Given the description of an element on the screen output the (x, y) to click on. 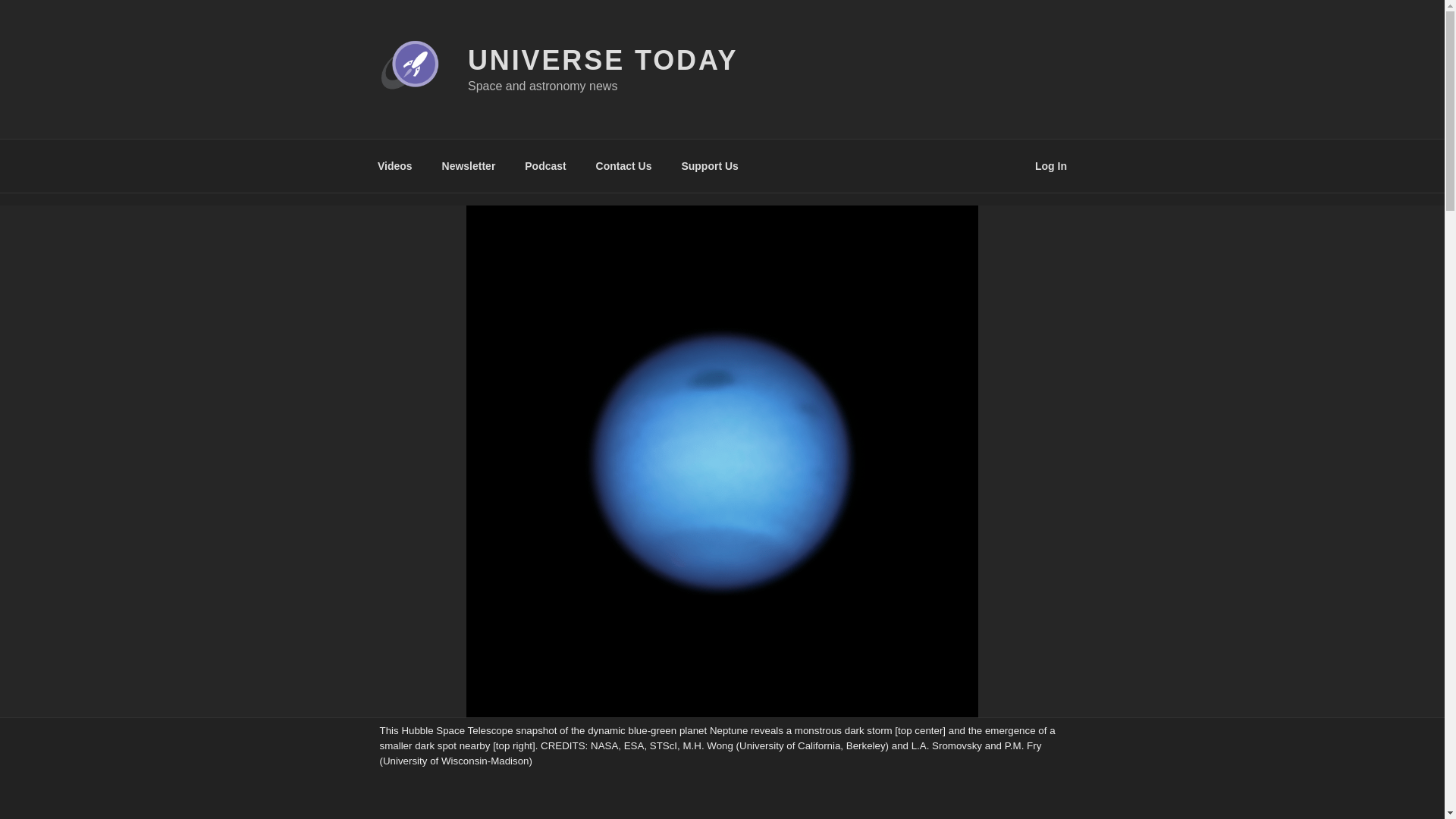
Videos (394, 165)
Contact Us (623, 165)
Support Us (709, 165)
Log In (1051, 165)
Podcast (545, 165)
UNIVERSE TODAY (602, 60)
Newsletter (468, 165)
